Given the description of an element on the screen output the (x, y) to click on. 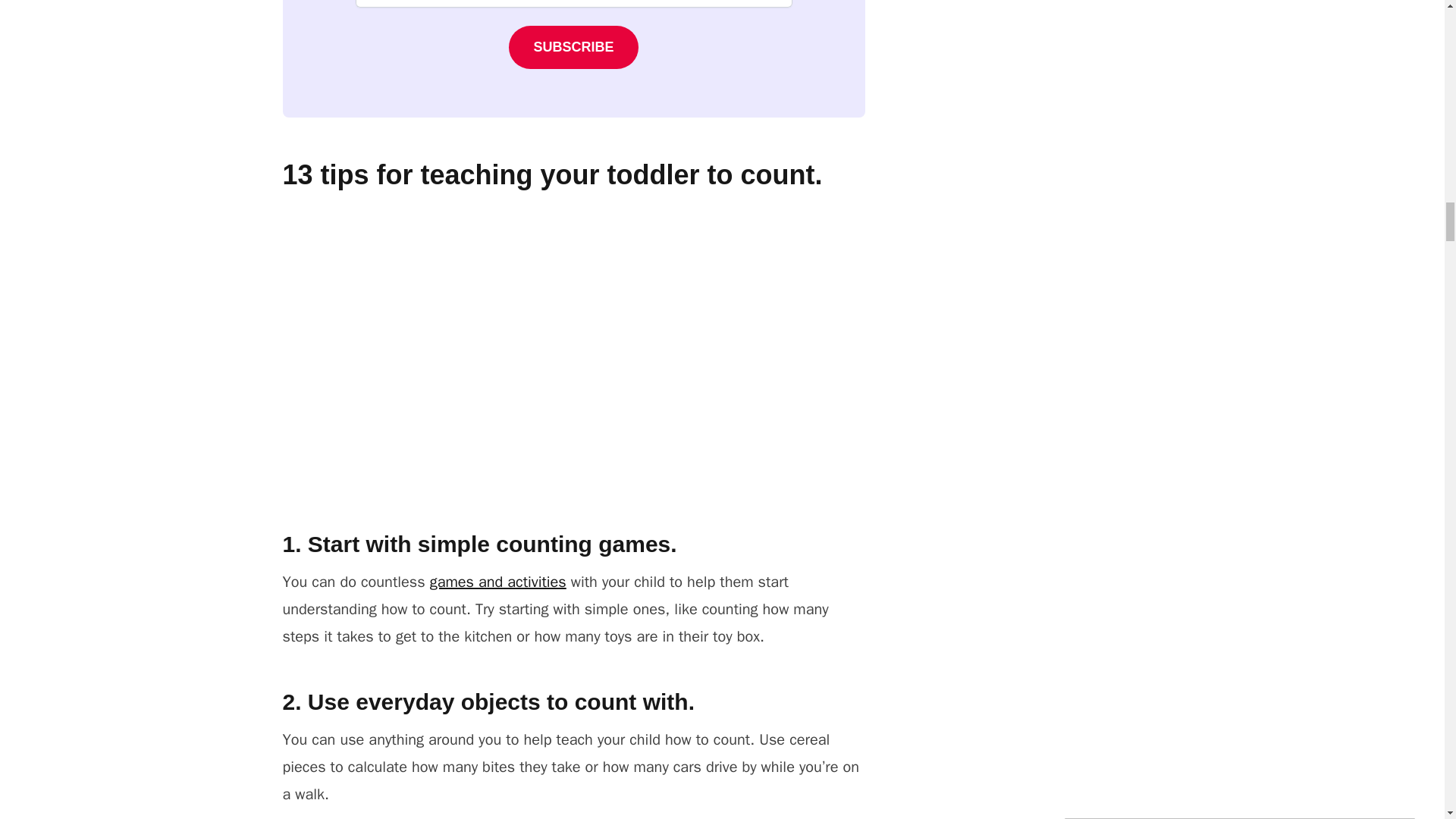
Subscribe (572, 46)
